Given the description of an element on the screen output the (x, y) to click on. 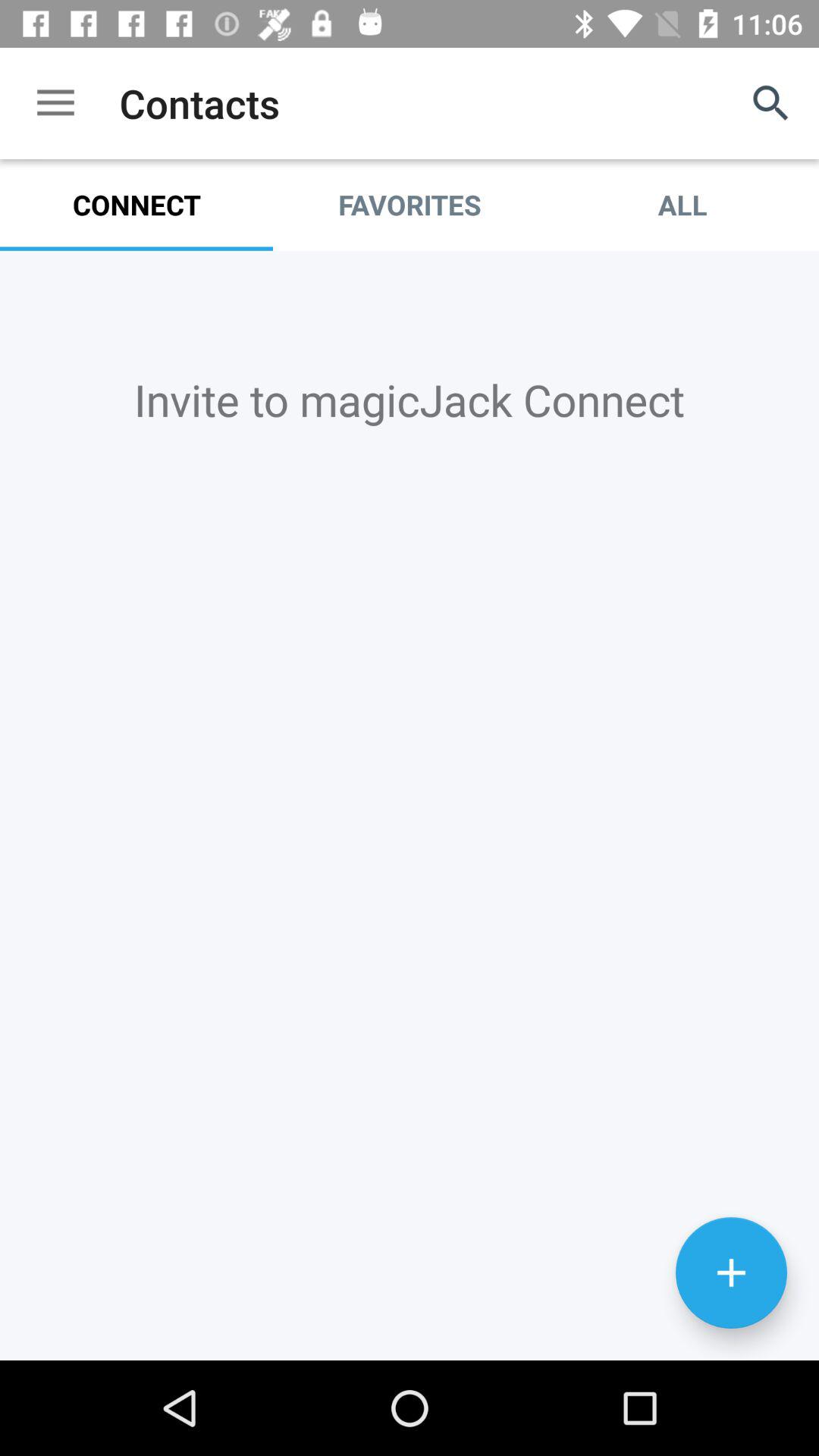
add connection (409, 805)
